Given the description of an element on the screen output the (x, y) to click on. 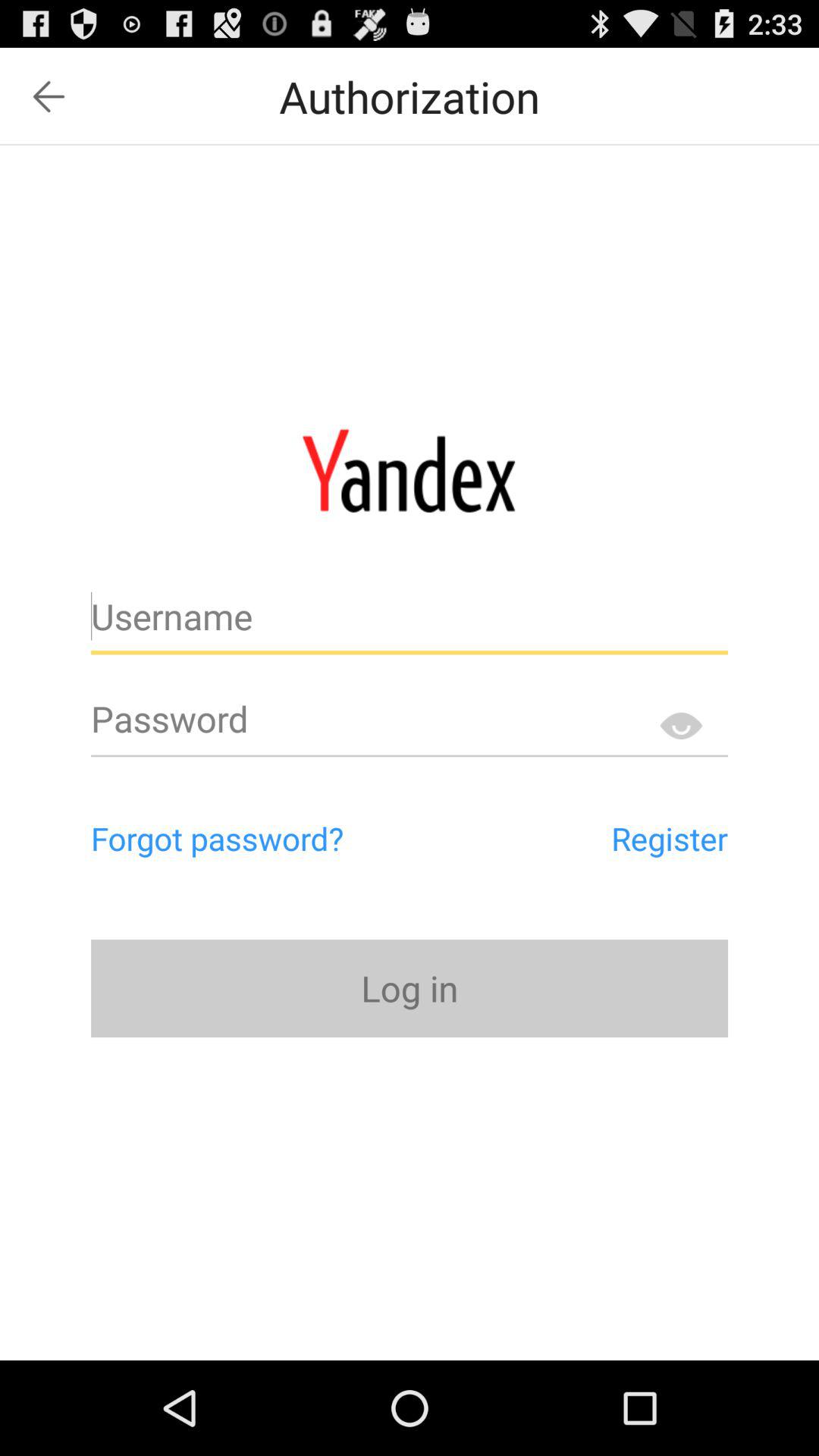
scroll to the register item (600, 837)
